Given the description of an element on the screen output the (x, y) to click on. 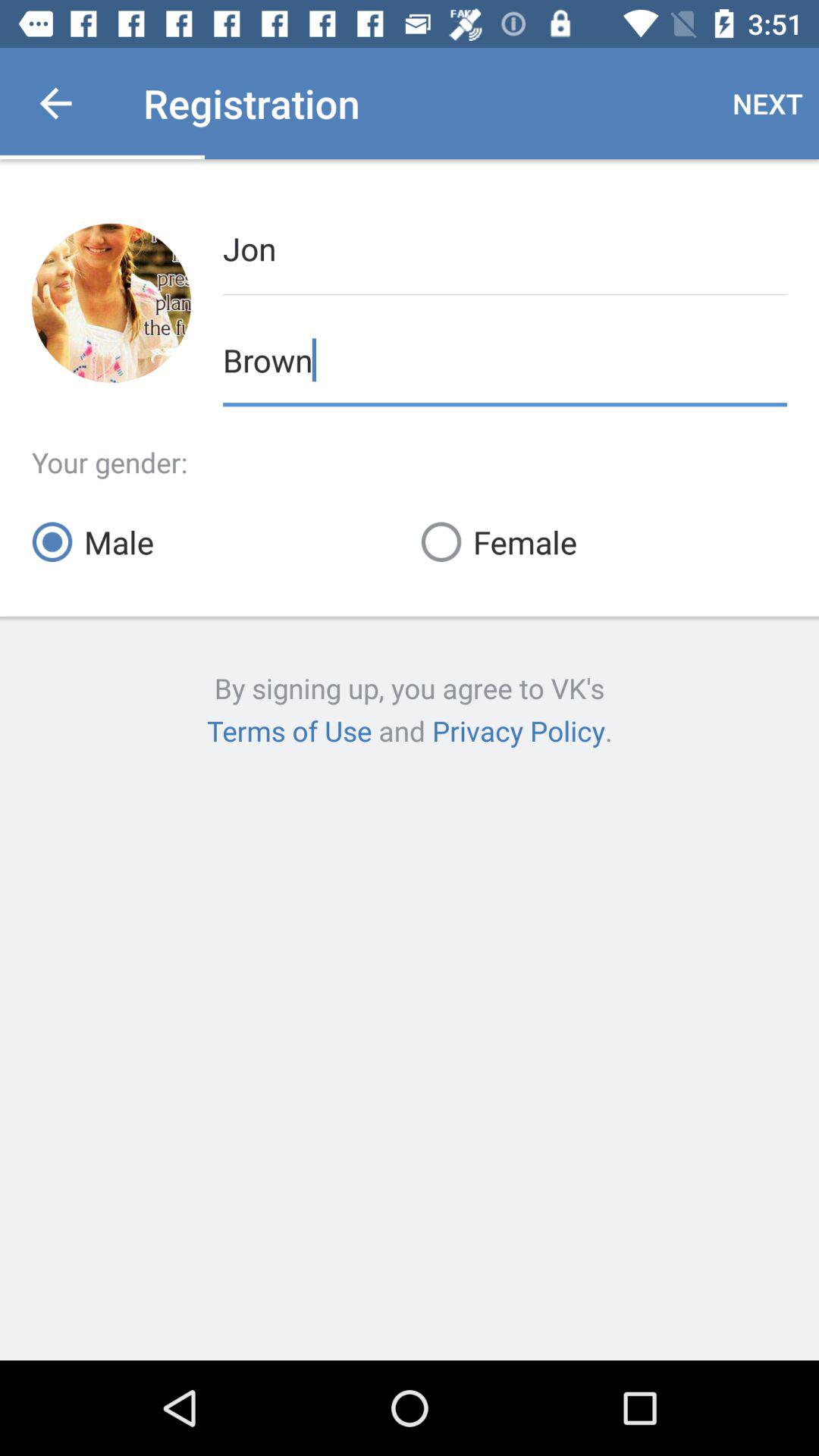
select icon below the your gender: item (603, 541)
